Given the description of an element on the screen output the (x, y) to click on. 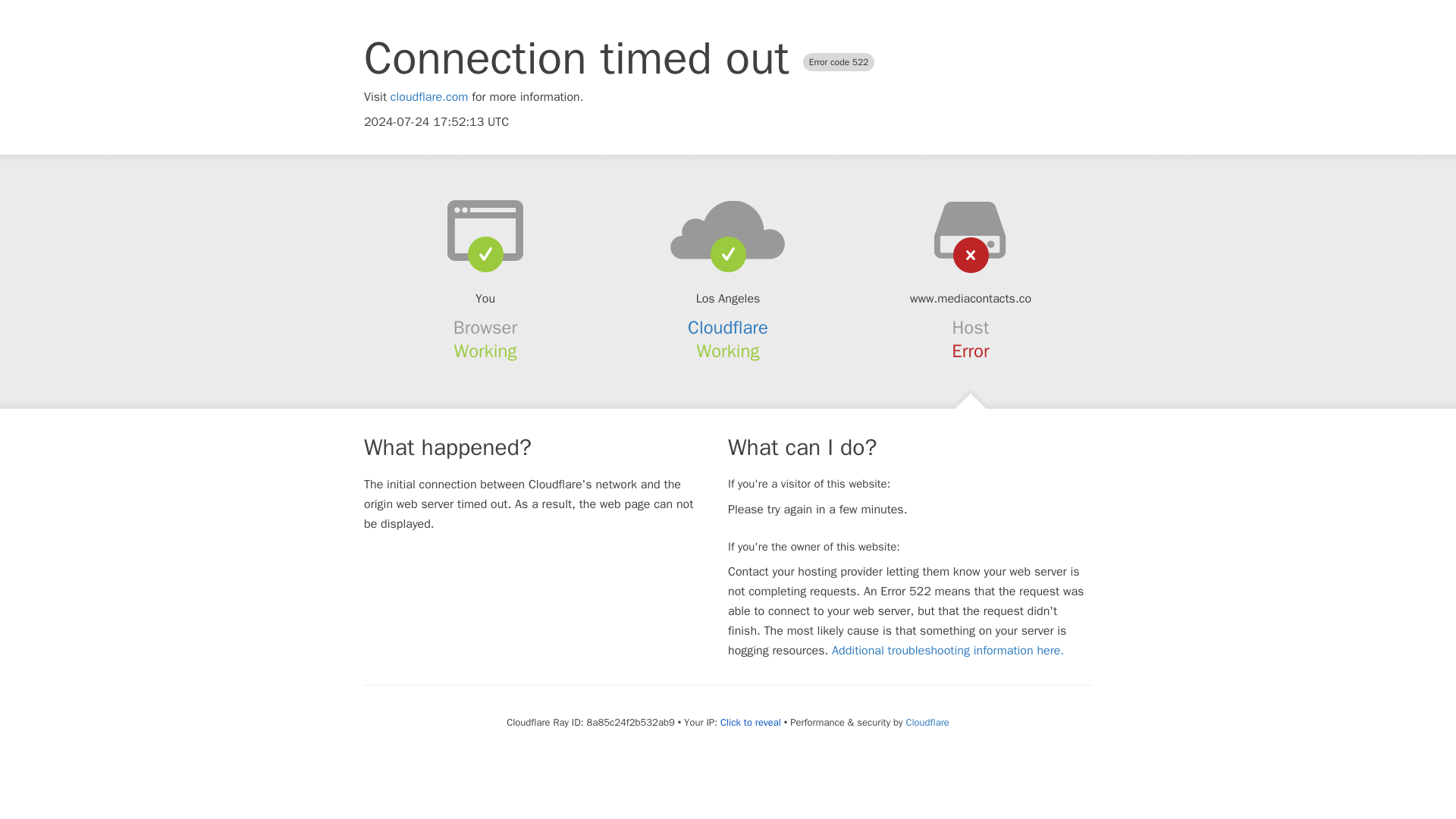
Cloudflare (927, 721)
Cloudflare (727, 327)
Click to reveal (750, 722)
Additional troubleshooting information here. (947, 650)
cloudflare.com (429, 96)
